Given the description of an element on the screen output the (x, y) to click on. 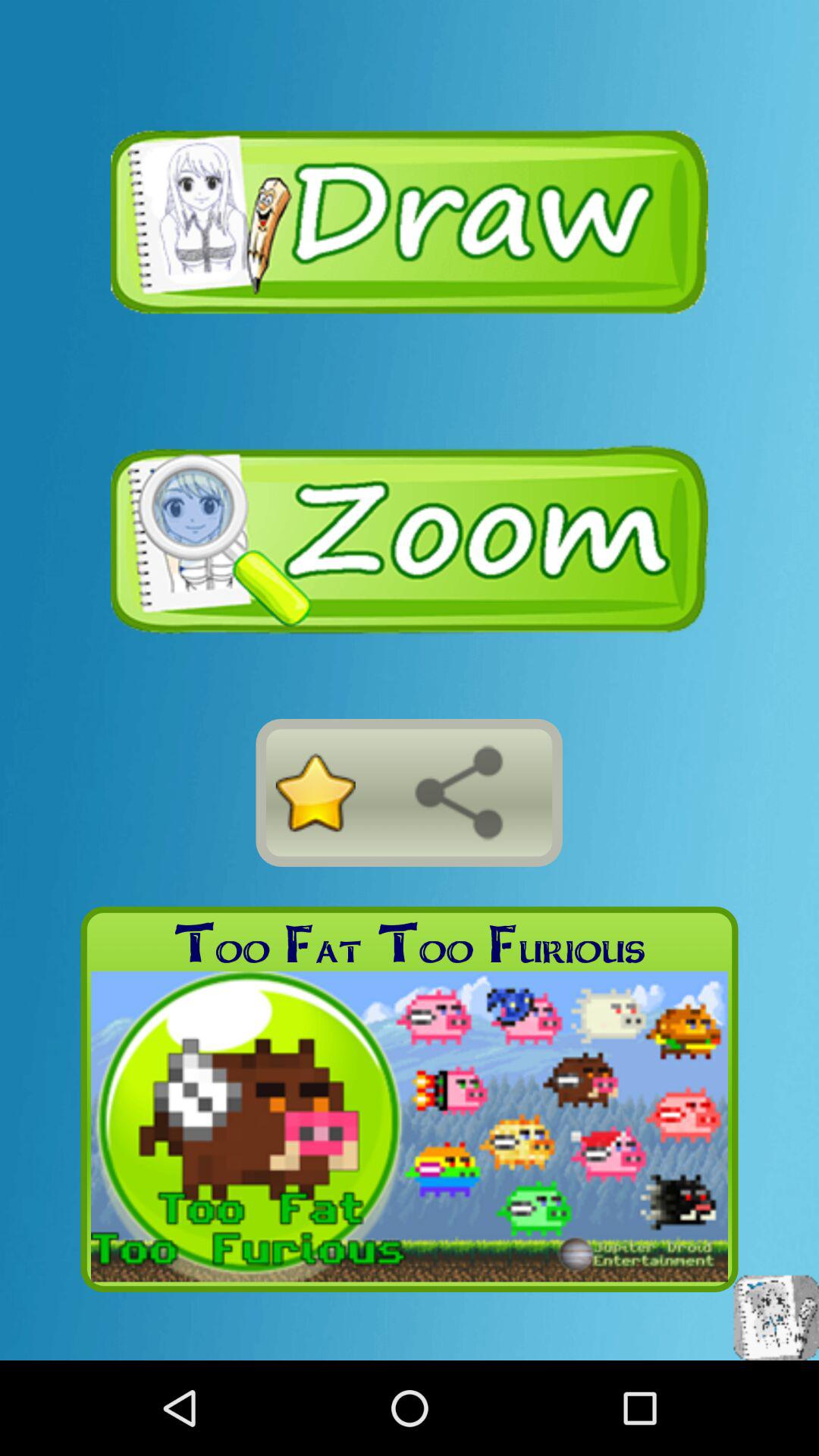
zoom in (409, 539)
